Given the description of an element on the screen output the (x, y) to click on. 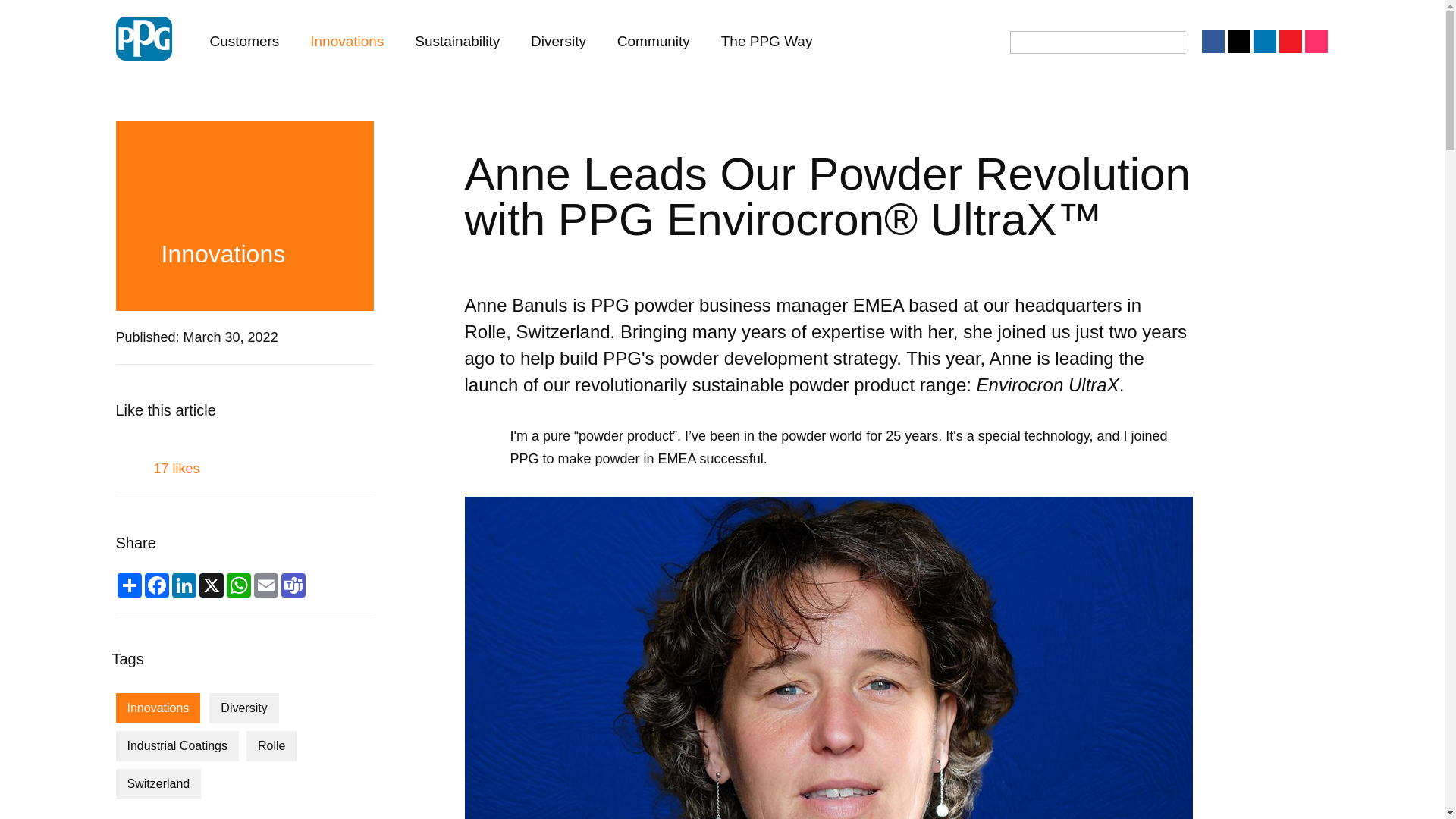
Teams (292, 585)
Diversity (243, 707)
Switzerland (157, 784)
Customers (244, 41)
Share (128, 585)
X (210, 585)
The PPG Way (767, 41)
LinkedIn (183, 585)
WhatsApp (237, 585)
Facebook (156, 585)
Industrial Coatings (176, 746)
17 likes (243, 460)
Email (265, 585)
Diversity (557, 41)
Community (653, 41)
